Given the description of an element on the screen output the (x, y) to click on. 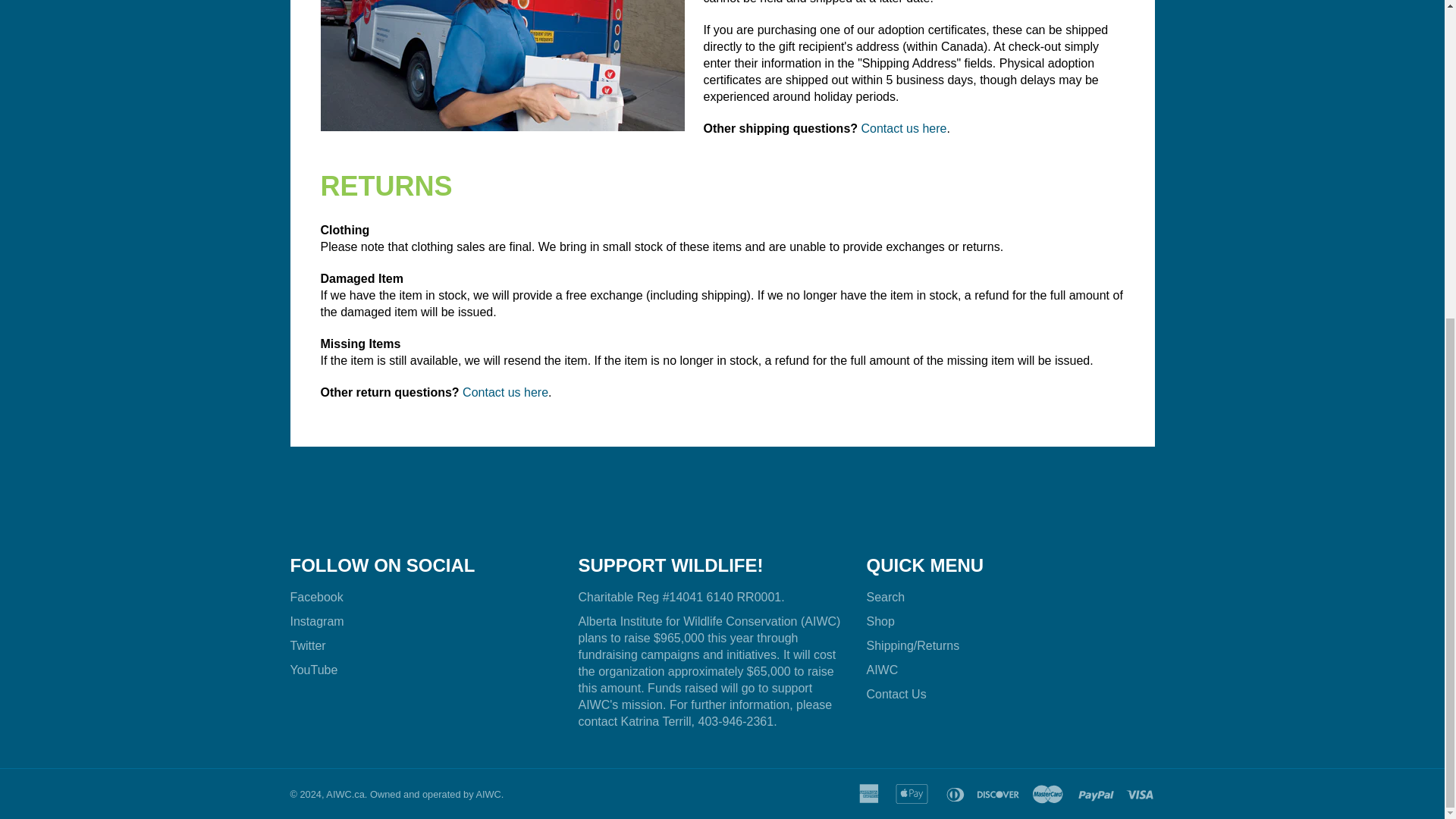
Owned and operated by AIWC. (436, 794)
Shop (879, 621)
AIWC (882, 669)
AIWC.ca (345, 794)
Search (885, 596)
Instagram (316, 621)
Contact us here (904, 128)
Contact us here (505, 391)
Twitter (306, 645)
Facebook (315, 596)
Contact Us (896, 694)
YouTube (313, 669)
